Given the description of an element on the screen output the (x, y) to click on. 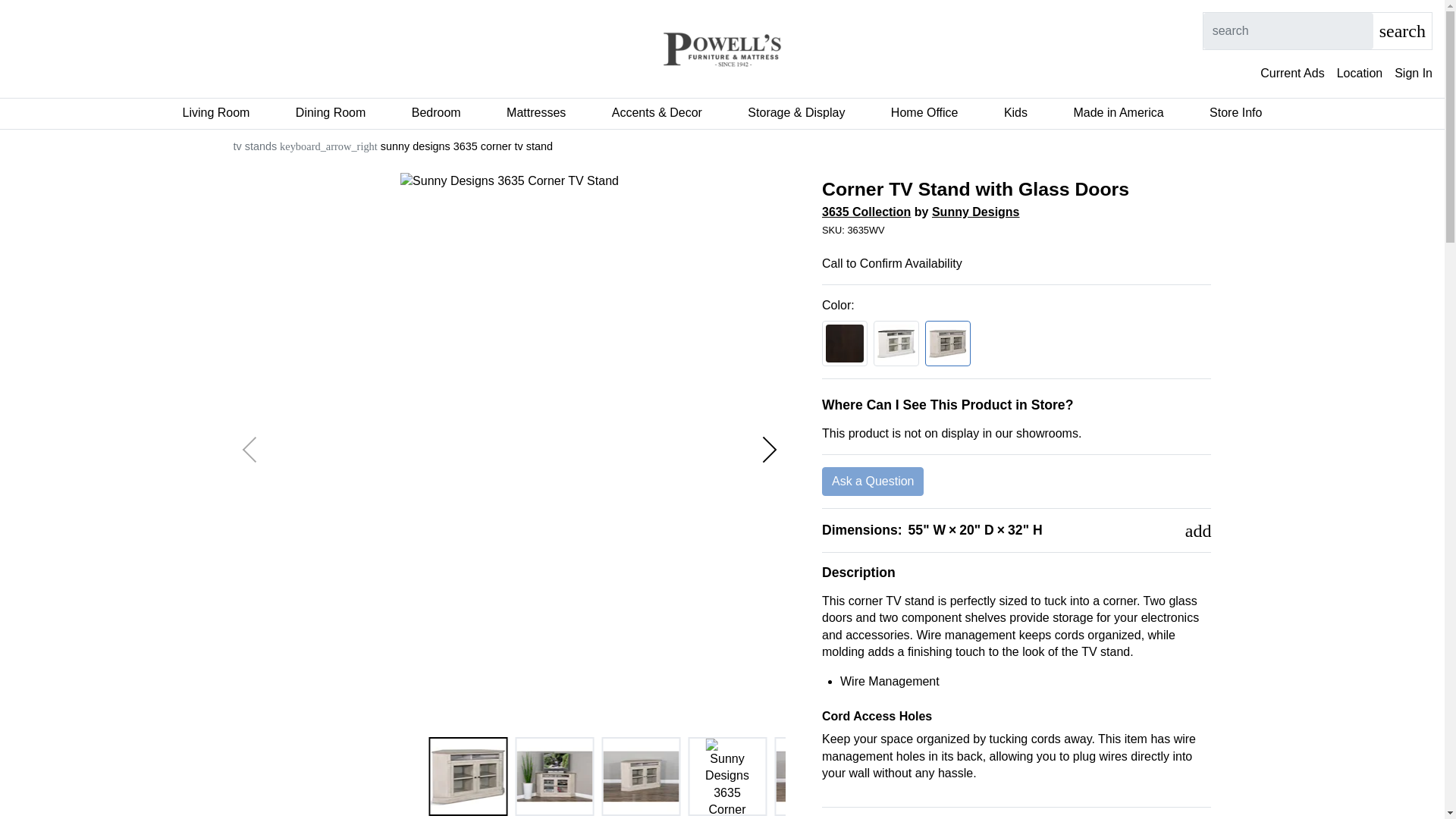
Sign In (1413, 73)
3635WV (1016, 230)
Dining Room (330, 113)
Living Room (215, 113)
Bedroom (436, 113)
Location (1359, 73)
Current Ads (1291, 73)
Black Walnut (844, 343)
